Given the description of an element on the screen output the (x, y) to click on. 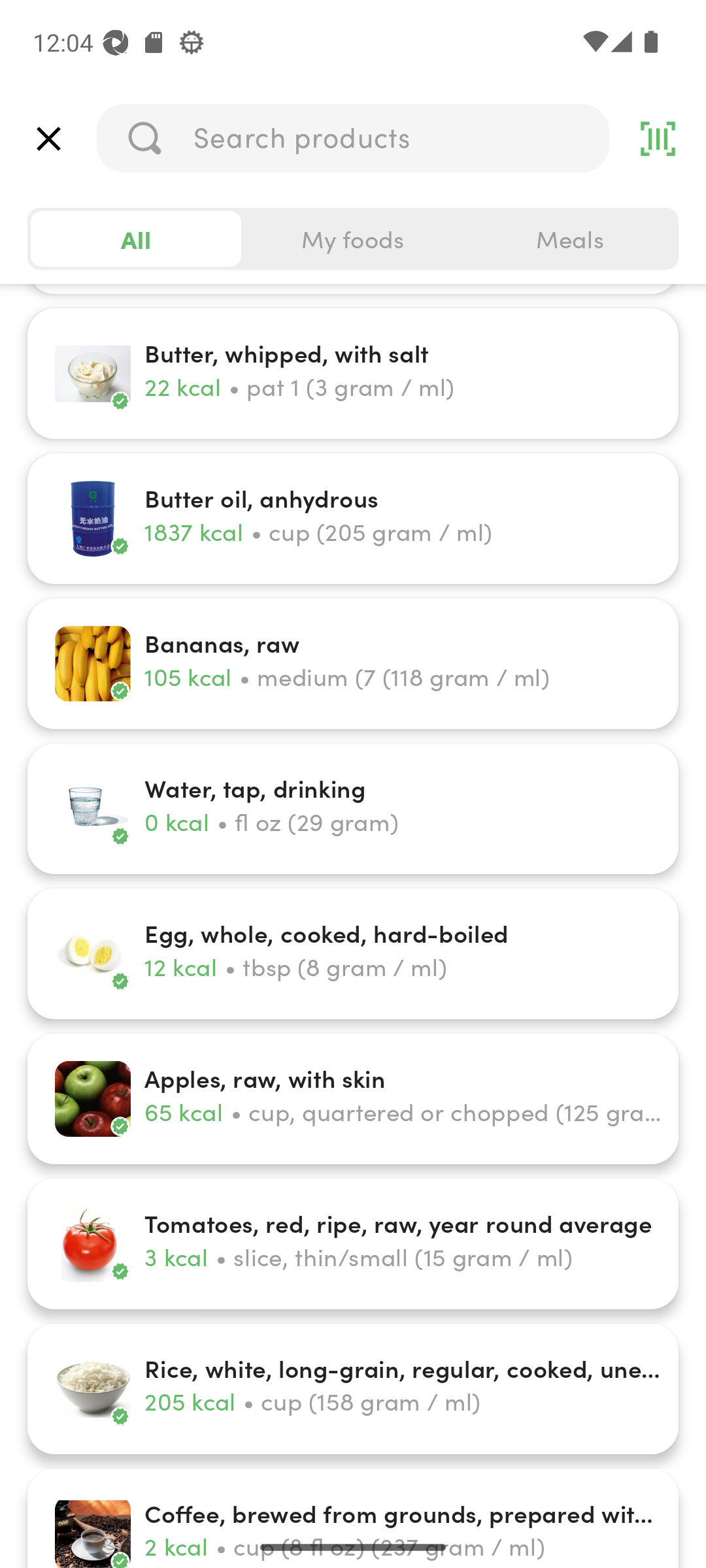
top_left_action (48, 138)
top_right_action (658, 138)
My foods (352, 238)
Meals (569, 238)
Bananas, raw 105 kcal  • medium (7 (118 gram / ml) (352, 663)
Water, tap, drinking 0 kcal  • fl oz (29 gram) (352, 808)
